Given the description of an element on the screen output the (x, y) to click on. 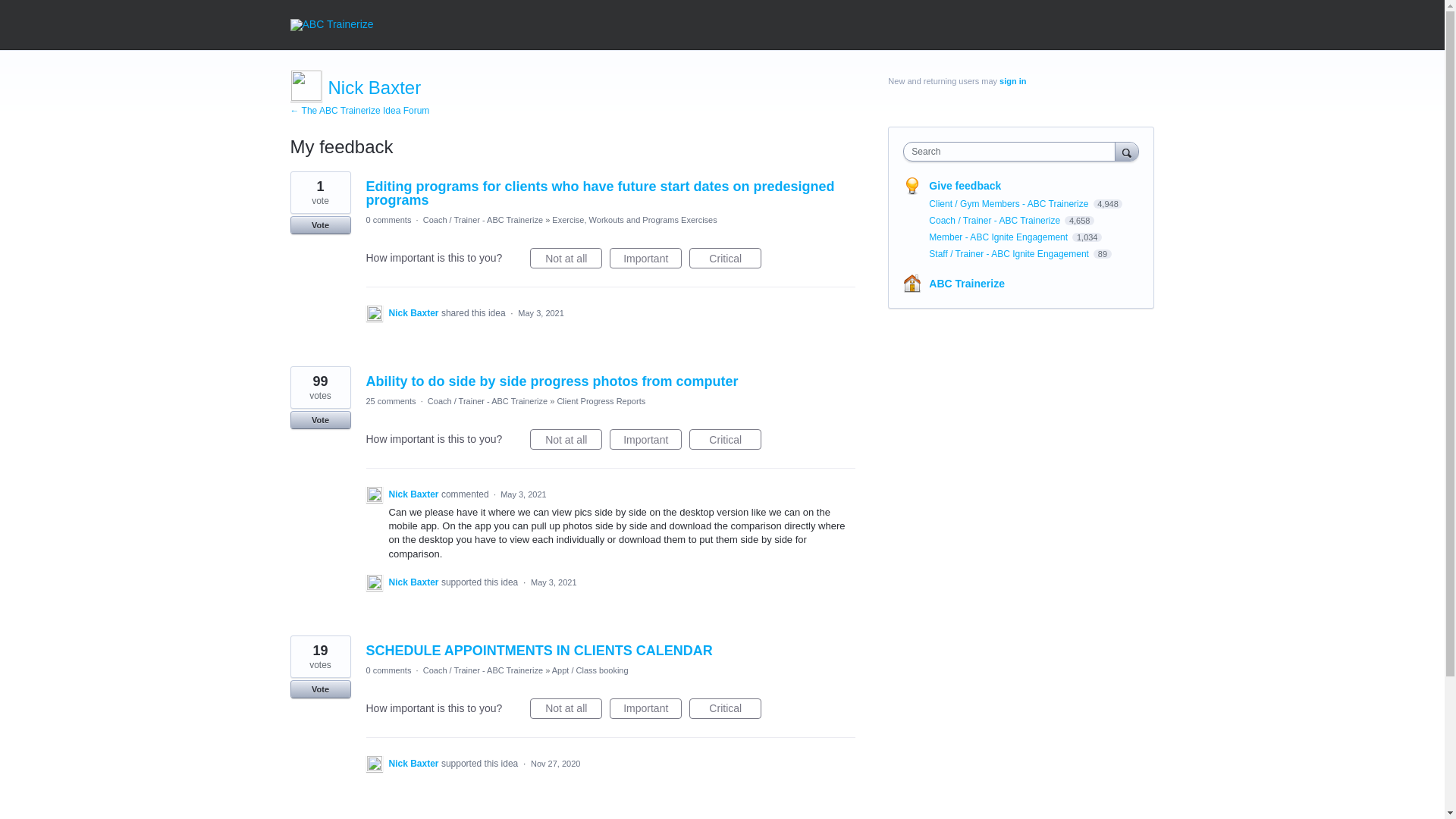
Nick Baxter (414, 312)
Exercise, Workouts and Programs Exercises (633, 219)
Nick Baxter (373, 86)
Critical (724, 258)
Vote (319, 225)
The ABC Trainerize Idea Forum (330, 24)
0 comments (387, 219)
Vote (319, 420)
Important (645, 258)
Not at all (565, 258)
Ability to do side by side progress photos from computer (551, 381)
The ABC Trainerize Idea Forum (359, 110)
